Given the description of an element on the screen output the (x, y) to click on. 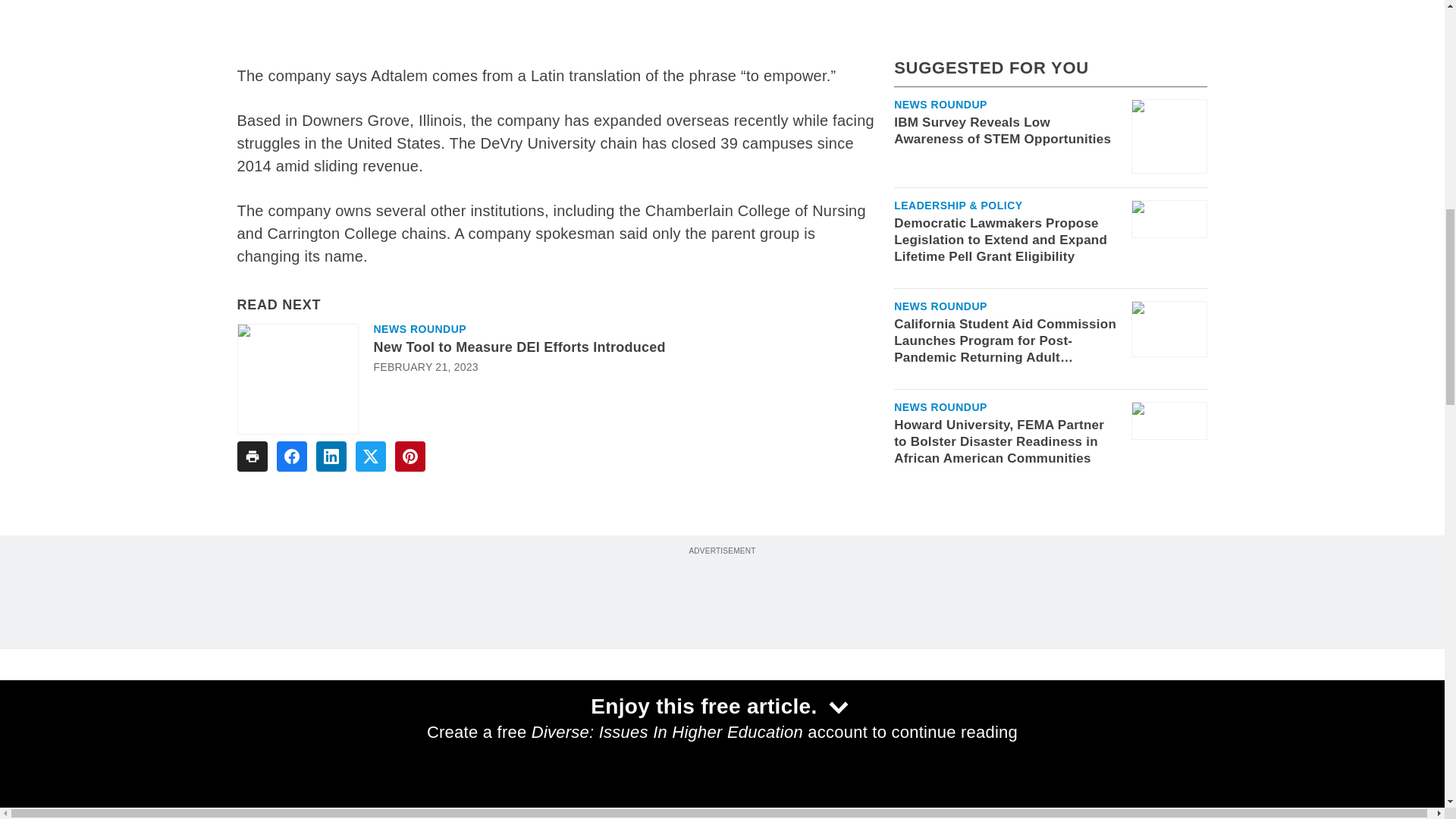
News Roundup (418, 328)
Share To facebook (290, 456)
Share To print (250, 456)
